Given the description of an element on the screen output the (x, y) to click on. 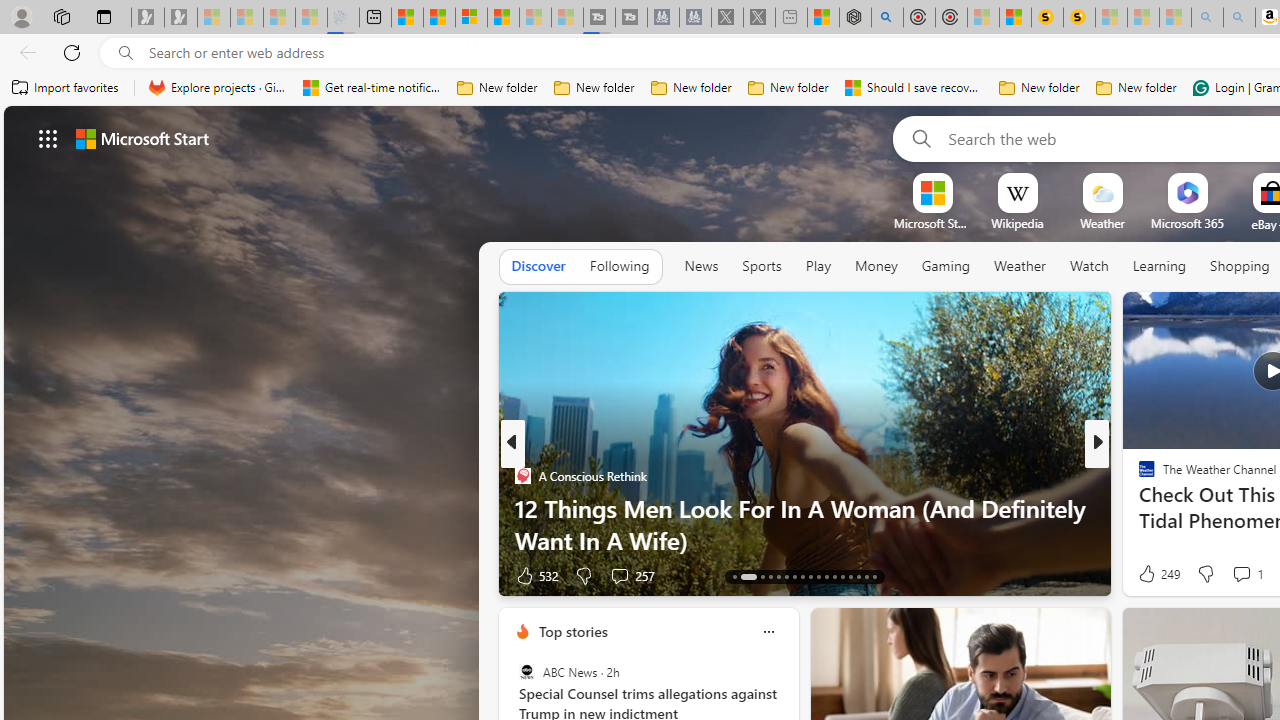
Fast Company (1138, 475)
View comments 397 Comment (11, 575)
Forge of Empires (1175, 507)
View comments 2 Comment (1228, 574)
AutomationID: tab-14 (748, 576)
Sports (761, 265)
Gaming (945, 265)
AutomationID: tab-18 (786, 576)
AutomationID: tab-29 (874, 576)
View comments 366 Comment (1247, 574)
Shopping (1240, 265)
